Given the description of an element on the screen output the (x, y) to click on. 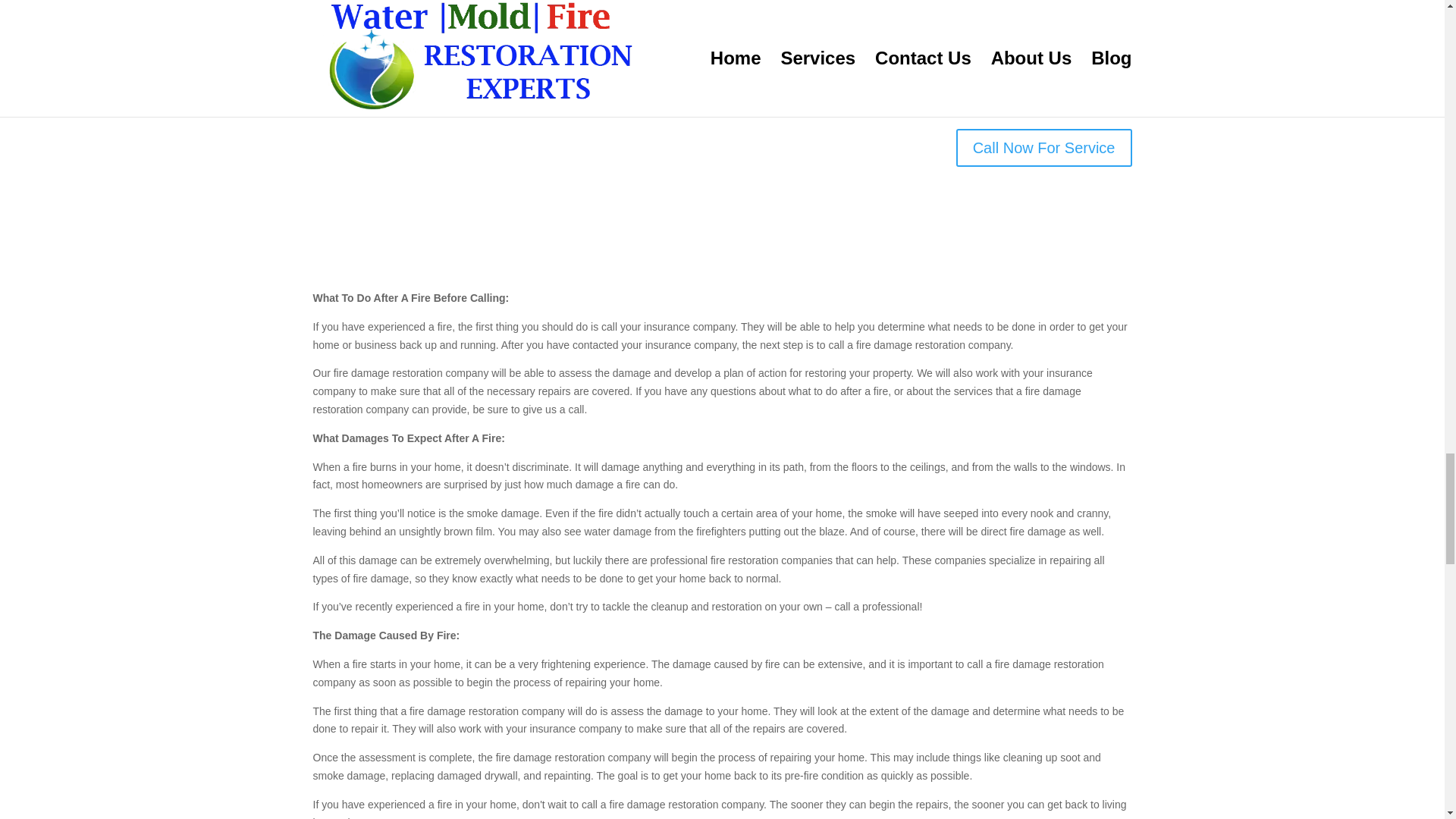
Call Now For Service (1044, 147)
